Given the description of an element on the screen output the (x, y) to click on. 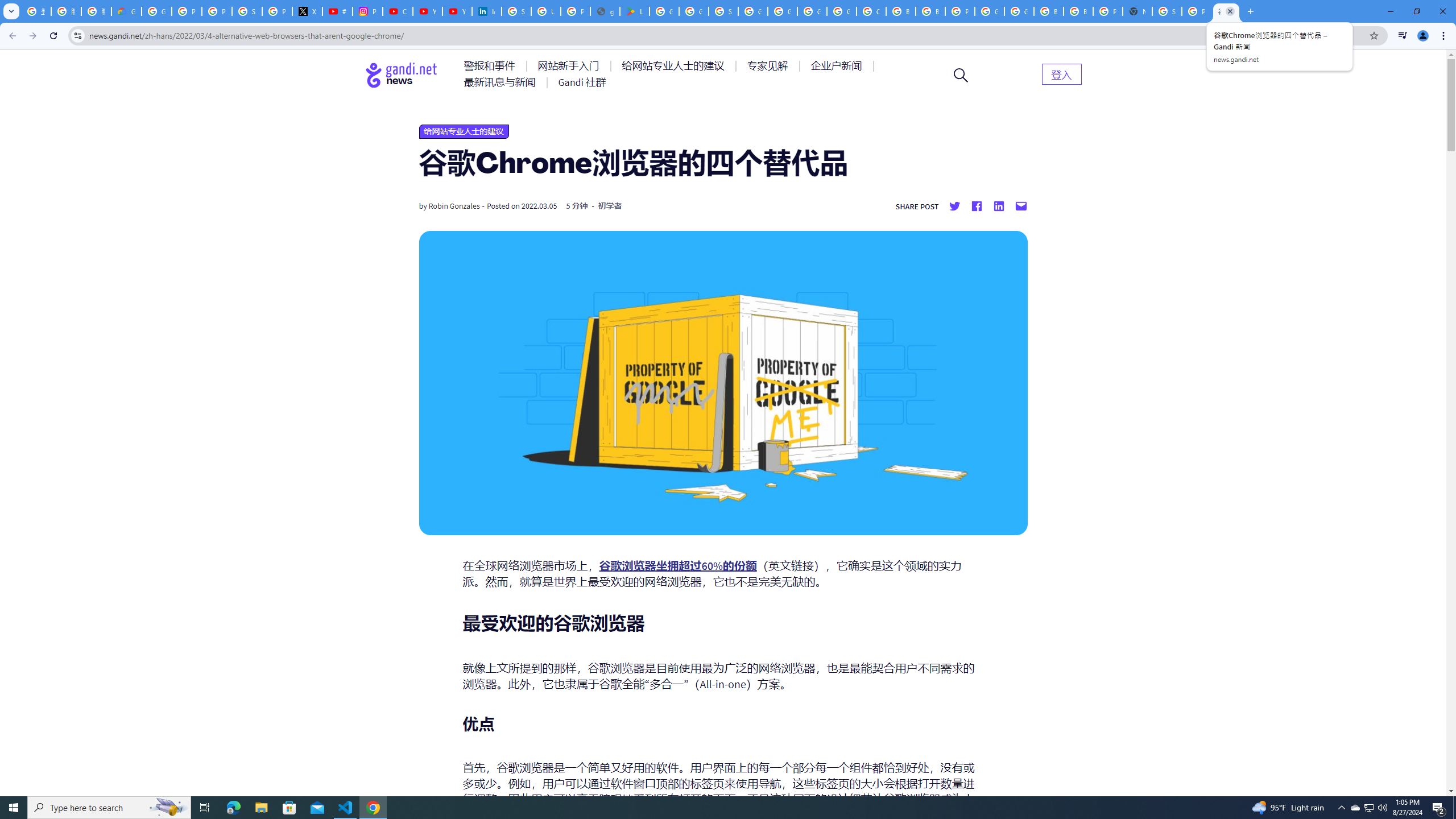
AutomationID: menu-item-77761 (492, 65)
Google Cloud Privacy Notice (126, 11)
Robin Gonzales (454, 205)
Google Cloud Platform (811, 11)
AutomationID: menu-item-77763 (674, 65)
